Given the description of an element on the screen output the (x, y) to click on. 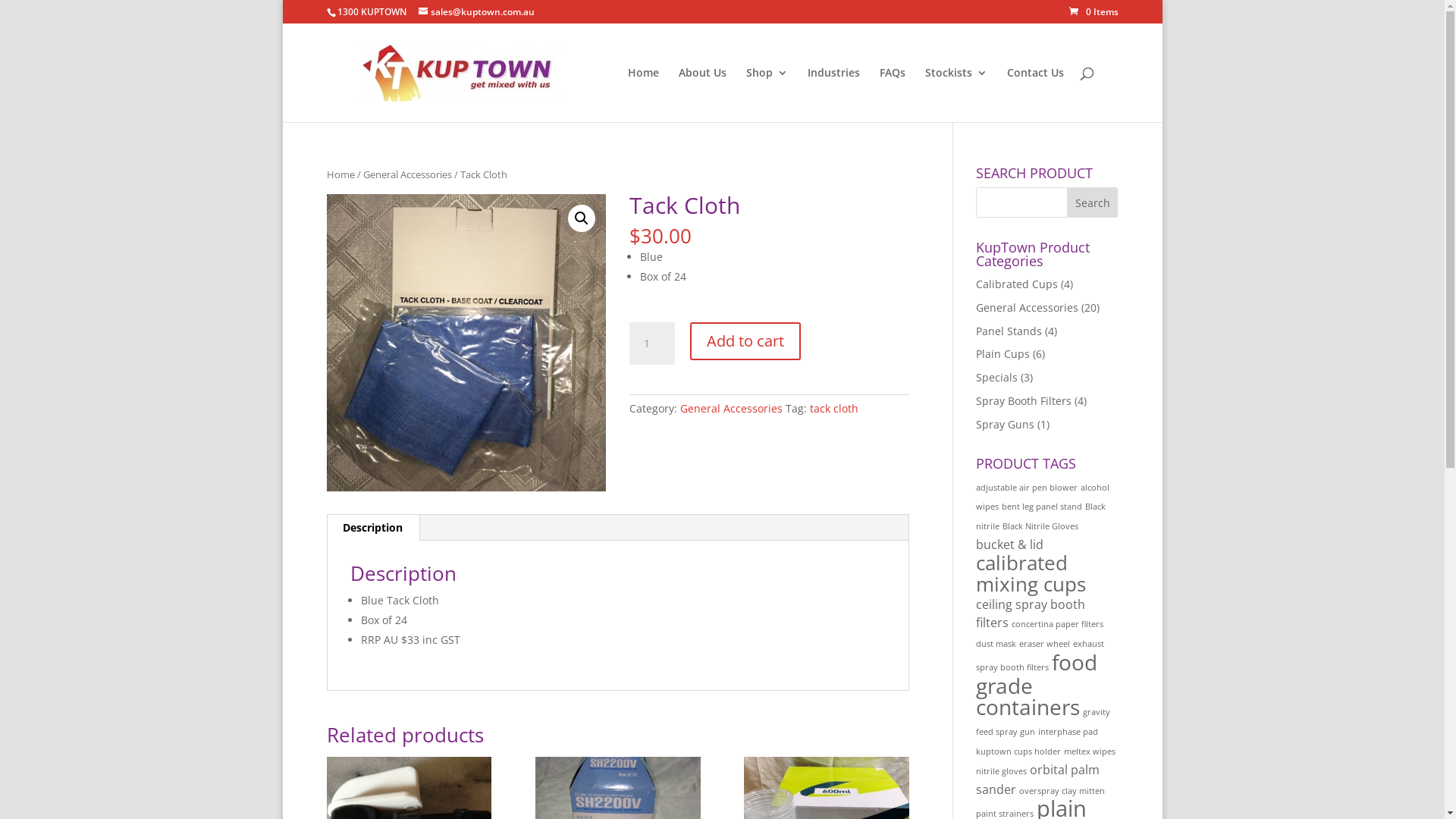
FAQs Element type: text (892, 94)
Search Element type: text (1092, 202)
bent leg panel stand Element type: text (1041, 506)
calibrated mixing cups Element type: text (1030, 573)
Industries Element type: text (832, 94)
General Accessories Element type: text (406, 174)
Calibrated Cups Element type: text (1016, 283)
KupTown-Tack-Cloth Element type: hover (465, 342)
food grade containers Element type: text (1036, 684)
Qty Element type: hover (651, 343)
nitrile gloves Element type: text (1000, 770)
Specials Element type: text (996, 377)
Home Element type: text (340, 174)
concertina paper filters Element type: text (1057, 623)
sales@kuptown.com.au Element type: text (476, 11)
eraser wheel Element type: text (1044, 643)
bucket & lid Element type: text (1009, 544)
kuptown cups holder Element type: text (1017, 751)
Home Element type: text (642, 94)
General Accessories Element type: text (1026, 307)
0 Items Element type: text (1093, 11)
Description Element type: text (372, 527)
exhaust spray booth filters Element type: text (1039, 655)
orbital palm sander Element type: text (1037, 779)
adjustable air pen blower Element type: text (1026, 487)
Black Nitrile Gloves Element type: text (1040, 525)
About Us Element type: text (701, 94)
Spray Guns Element type: text (1004, 424)
alcohol wipes Element type: text (1042, 497)
Plain Cups Element type: text (1002, 353)
dust mask Element type: text (995, 643)
Black nitrile Element type: text (1040, 516)
Contact Us Element type: text (1035, 94)
Shop Element type: text (766, 94)
Stockists Element type: text (956, 94)
tack cloth Element type: text (833, 408)
Spray Booth Filters Element type: text (1023, 400)
ceiling spray booth filters Element type: text (1030, 613)
overspray clay mitten Element type: text (1061, 790)
General Accessories Element type: text (731, 408)
gravity feed spray gun Element type: text (1042, 721)
Add to cart Element type: text (745, 341)
meltex wipes Element type: text (1089, 751)
Panel Stands Element type: text (1008, 330)
interphase pad Element type: text (1068, 731)
